Given the description of an element on the screen output the (x, y) to click on. 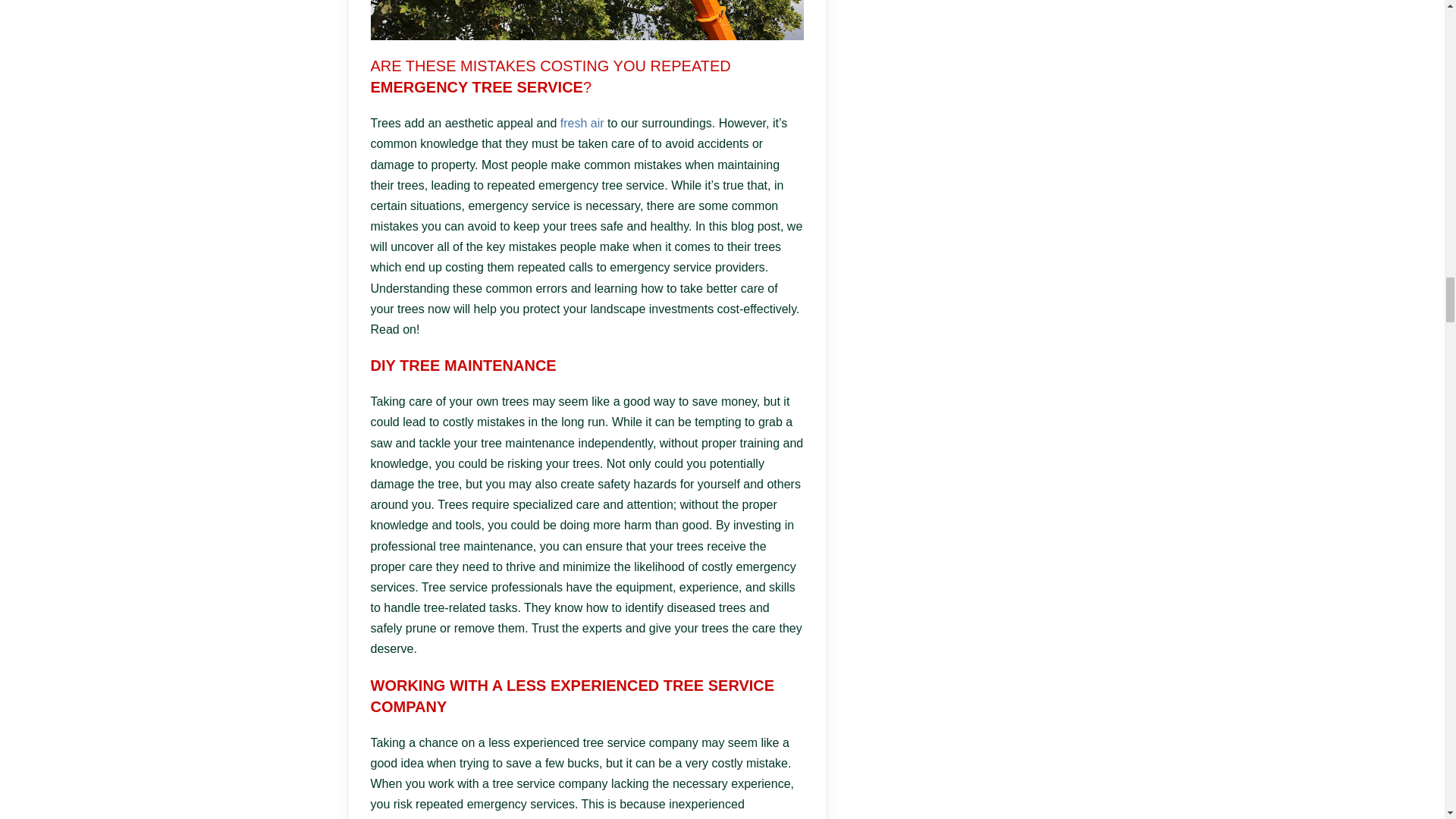
fresh air (582, 123)
